Given the description of an element on the screen output the (x, y) to click on. 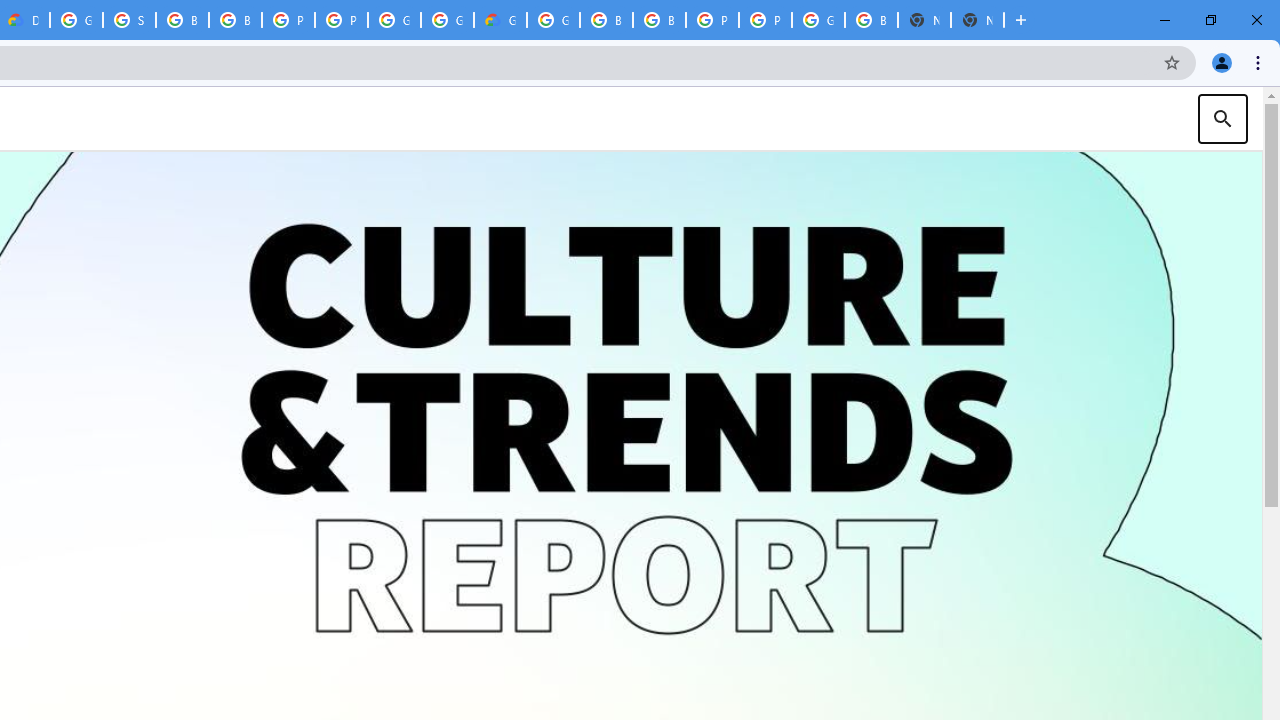
Browse Chrome as a guest - Computer - Google Chrome Help (235, 20)
Google Cloud Platform (76, 20)
Sign in - Google Accounts (129, 20)
Google Cloud Estimate Summary (500, 20)
Browse Chrome as a guest - Computer - Google Chrome Help (659, 20)
Google Cloud Platform (394, 20)
Google Cloud Platform (447, 20)
Google Cloud Platform (818, 20)
